Given the description of an element on the screen output the (x, y) to click on. 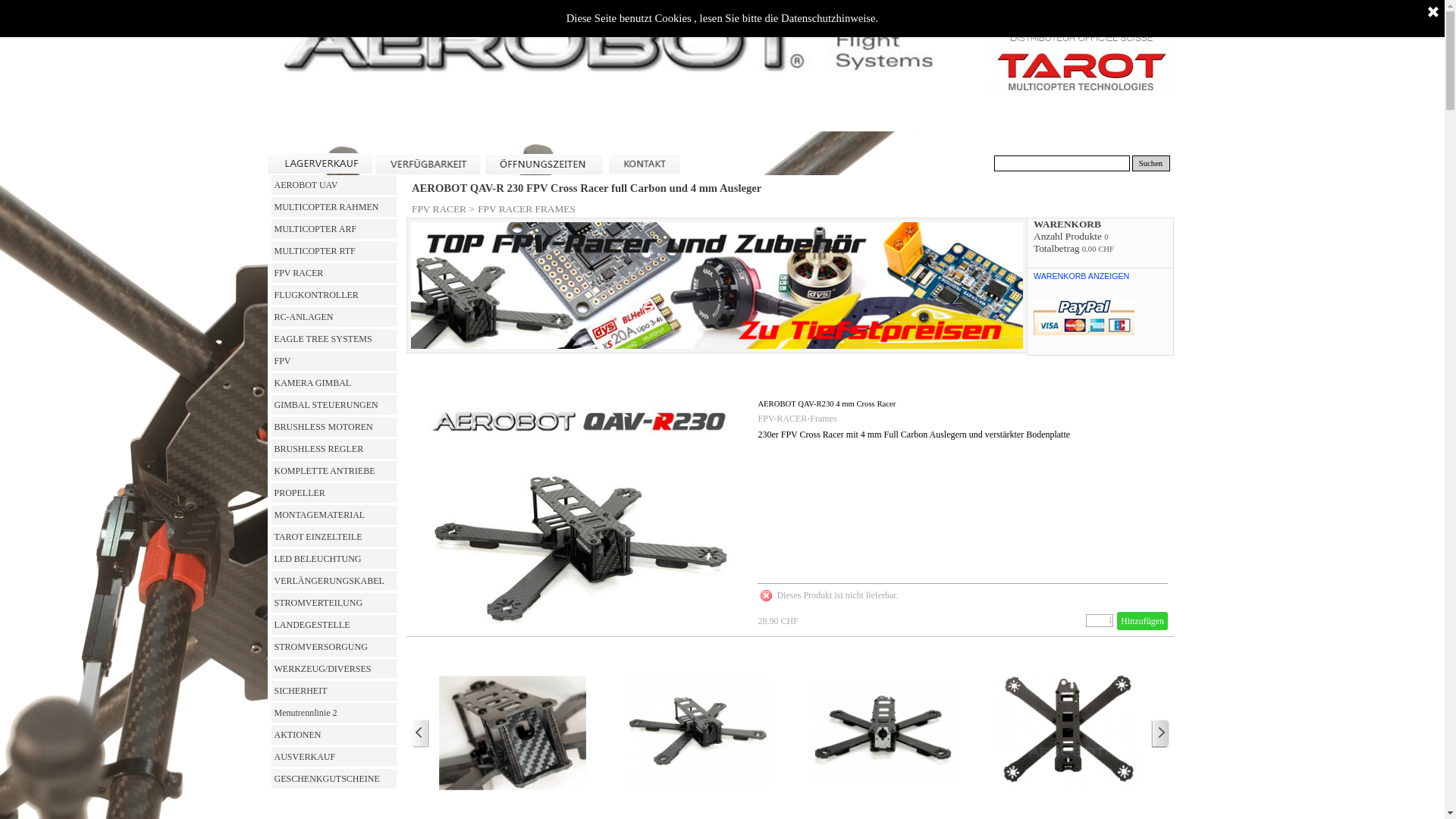
AEROBOT UAV Element type: text (333, 184)
SICHERHEIT Element type: text (333, 690)
WARENKORB ANZEIGEN Element type: text (1081, 283)
BRUSHLESS MOTOREN Element type: text (333, 426)
BRUSHLESS REGLER Element type: text (333, 448)
WERKZEUG/DIVERSES Element type: text (333, 668)
AUSVERKAUF Element type: text (333, 756)
STROMVERTEILUNG Element type: text (333, 602)
EAGLE TREE SYSTEMS Element type: text (333, 338)
KOMPLETTE ANTRIEBE Element type: text (333, 470)
GESCHENKGUTSCHEINE Element type: text (333, 778)
GIMBAL STEUERUNGEN Element type: text (333, 404)
AEROBOT QAV-R230 4 mm Cross Racer Element type: text (826, 403)
MULTICOPTER ARF Element type: text (333, 228)
MULTICOPTER RTF Element type: text (333, 250)
AKTIONEN Element type: text (333, 734)
MULTICOPTER RAHMEN Element type: text (333, 206)
KAMERA GIMBAL Element type: text (333, 382)
FPV RACER FRAMES Element type: text (526, 208)
LED BELEUCHTUNG Element type: text (333, 558)
Suchen Element type: text (1150, 163)
FLUGKONTROLLER Element type: text (333, 294)
